Given the description of an element on the screen output the (x, y) to click on. 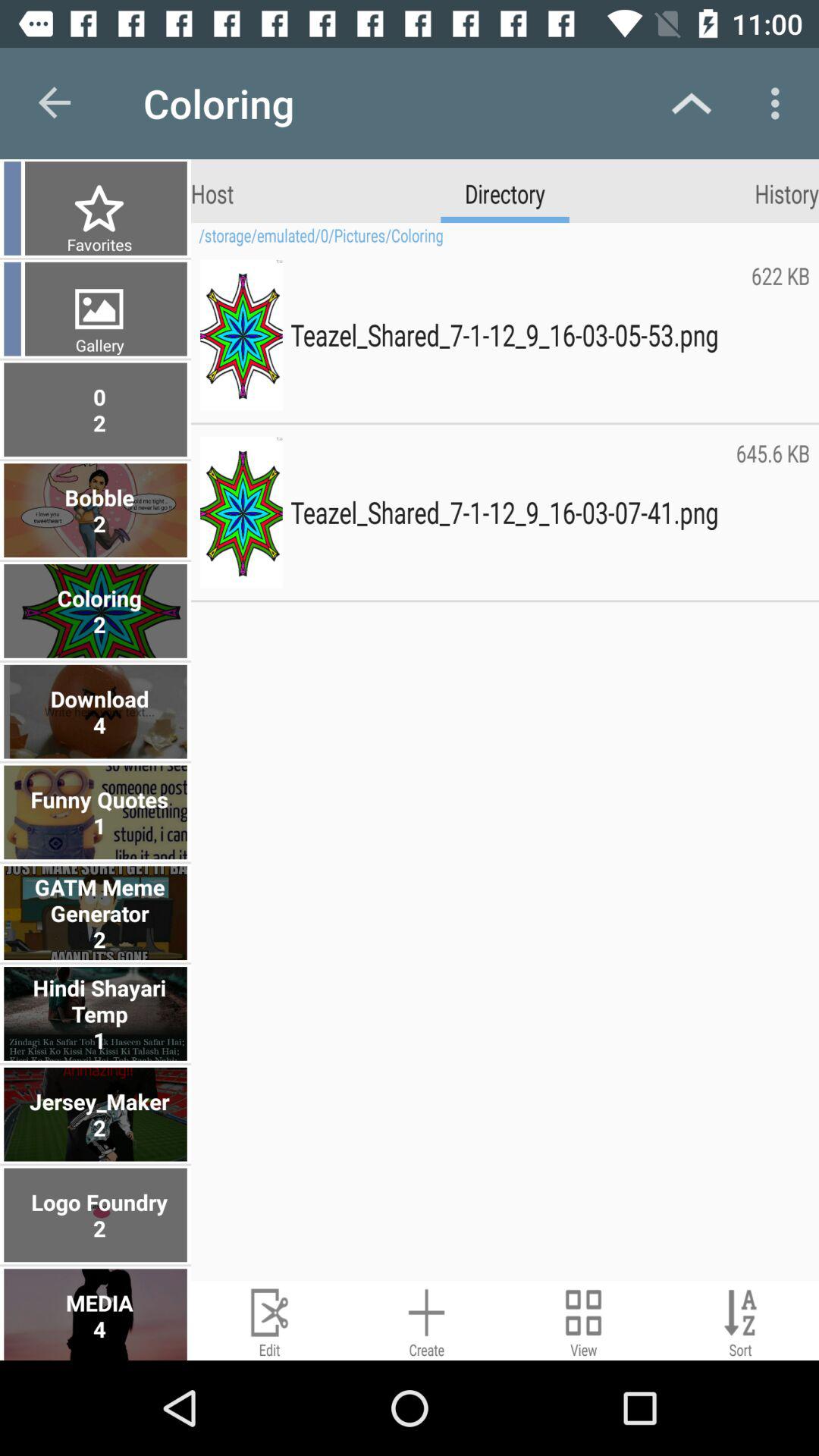
swipe until the 0
2 icon (97, 409)
